Given the description of an element on the screen output the (x, y) to click on. 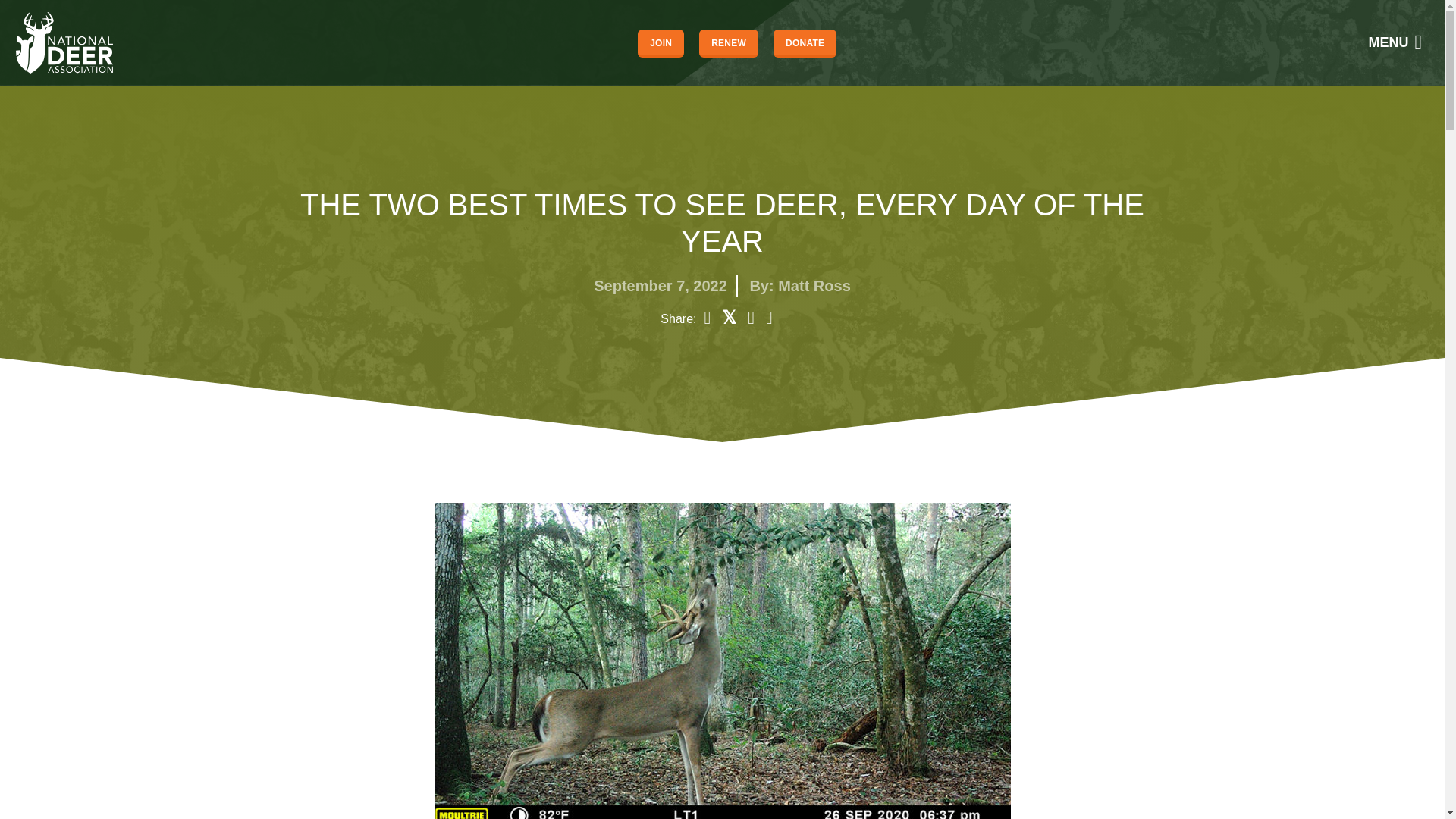
NDA Logo White (63, 42)
